Given the description of an element on the screen output the (x, y) to click on. 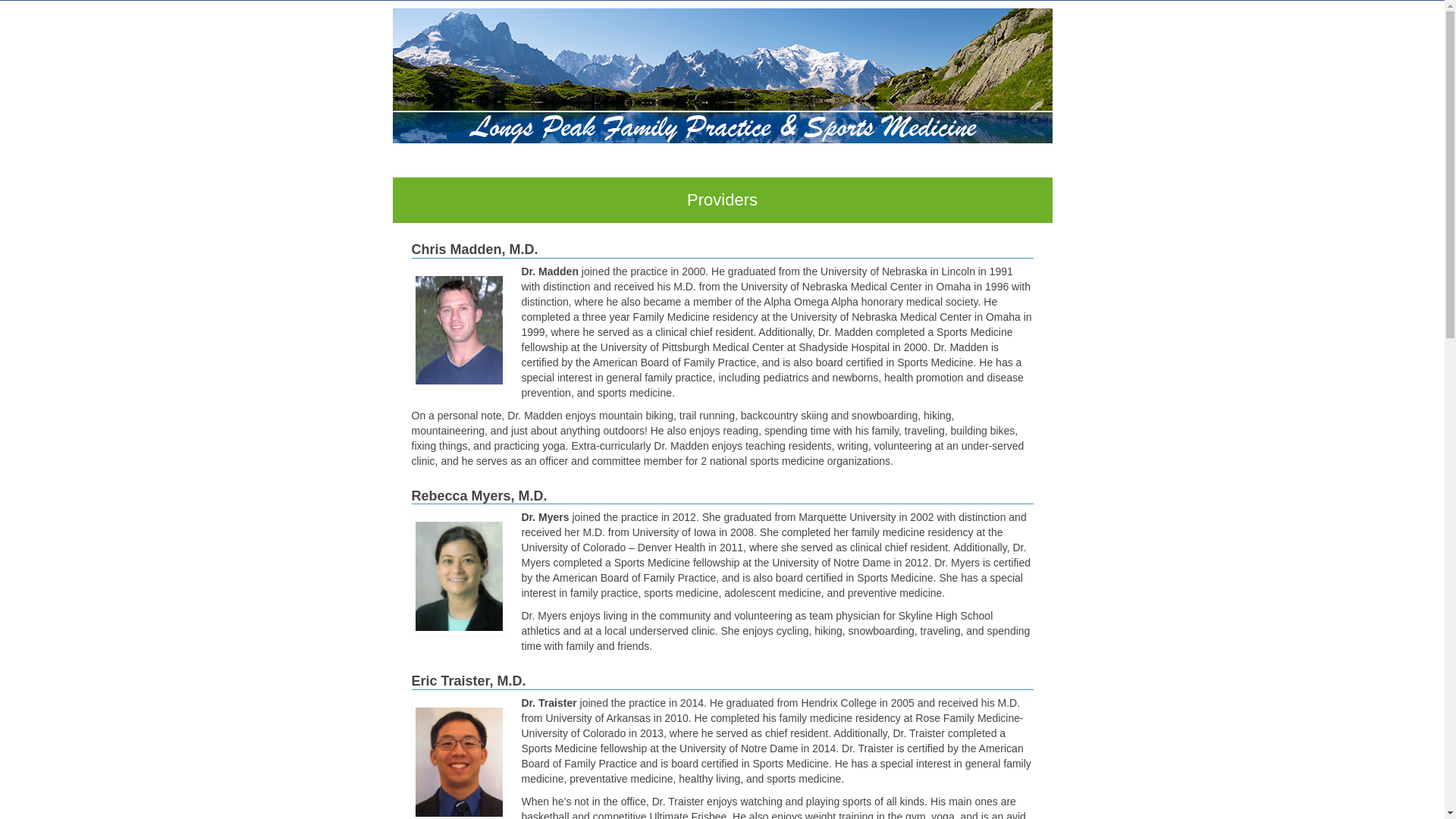
OUR SERVICES (613, 164)
SPORTS MEDICINE (913, 164)
HOME (433, 164)
PATIENT RESOURCES (796, 164)
PROVIDERS (697, 164)
CONTACT (1001, 164)
Longs Peak Family Practice (722, 76)
